Given the description of an element on the screen output the (x, y) to click on. 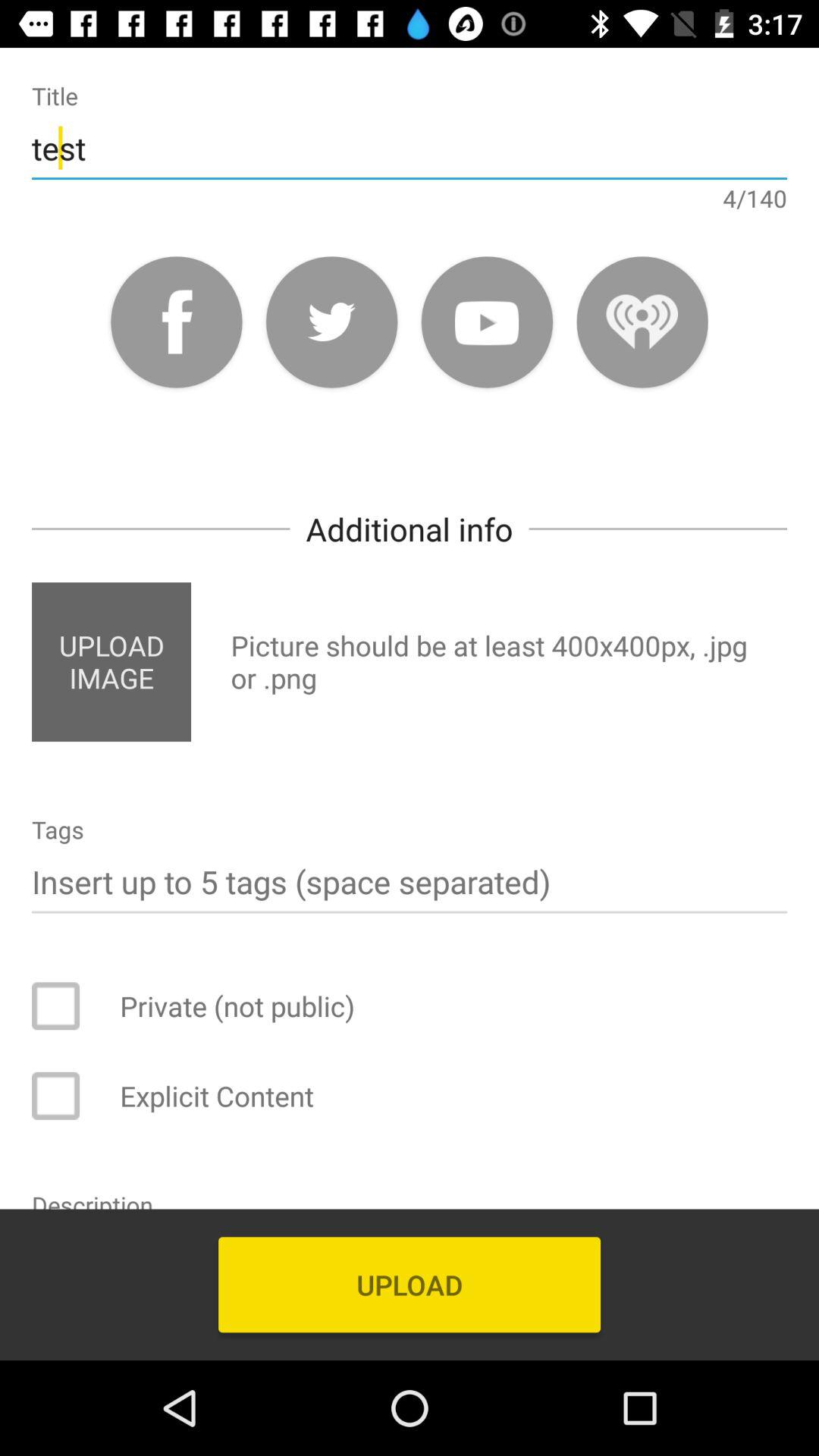
share to facebook (176, 321)
